Given the description of an element on the screen output the (x, y) to click on. 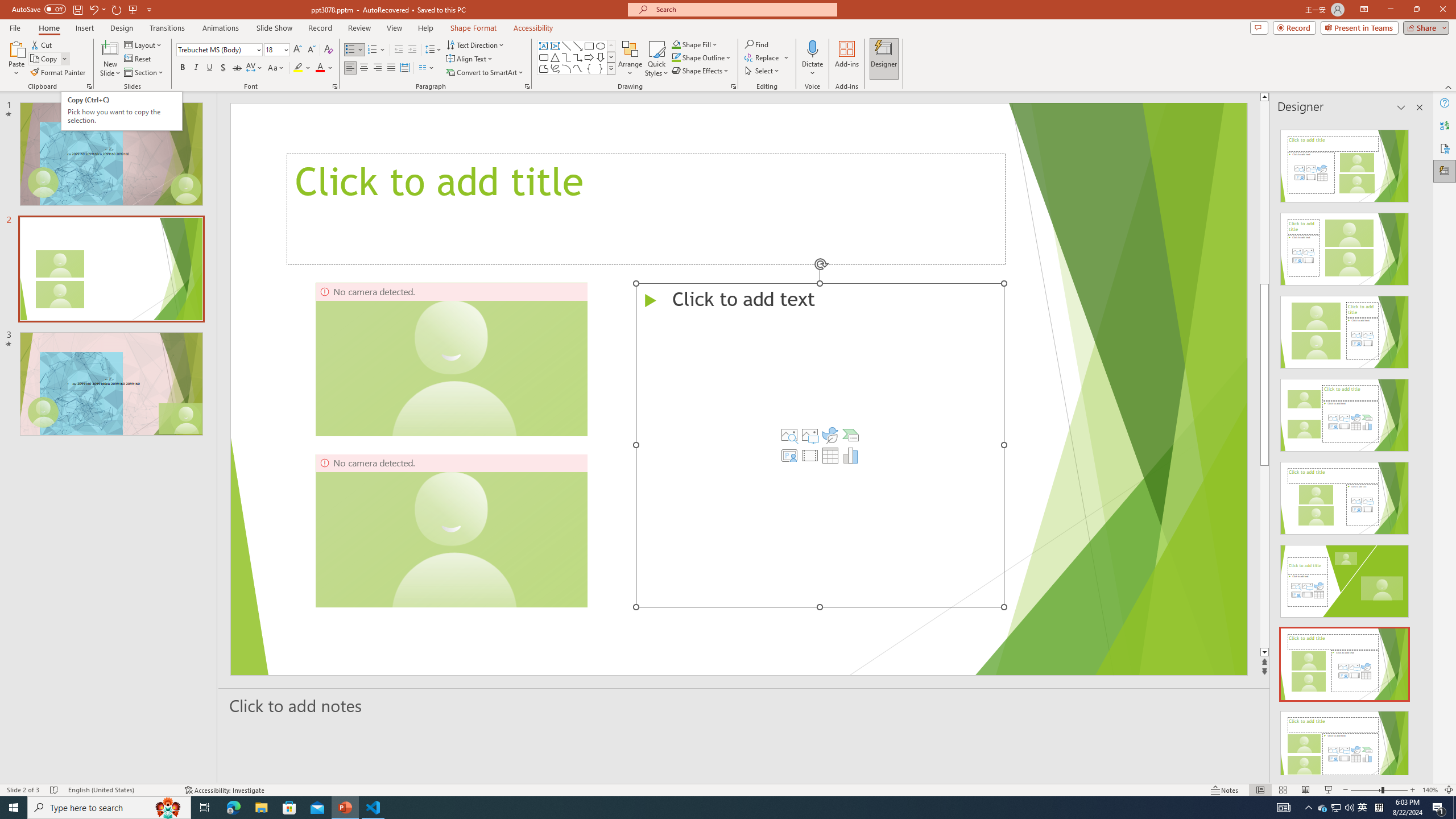
Recommended Design: Design Idea (121, 111)
